Given the description of an element on the screen output the (x, y) to click on. 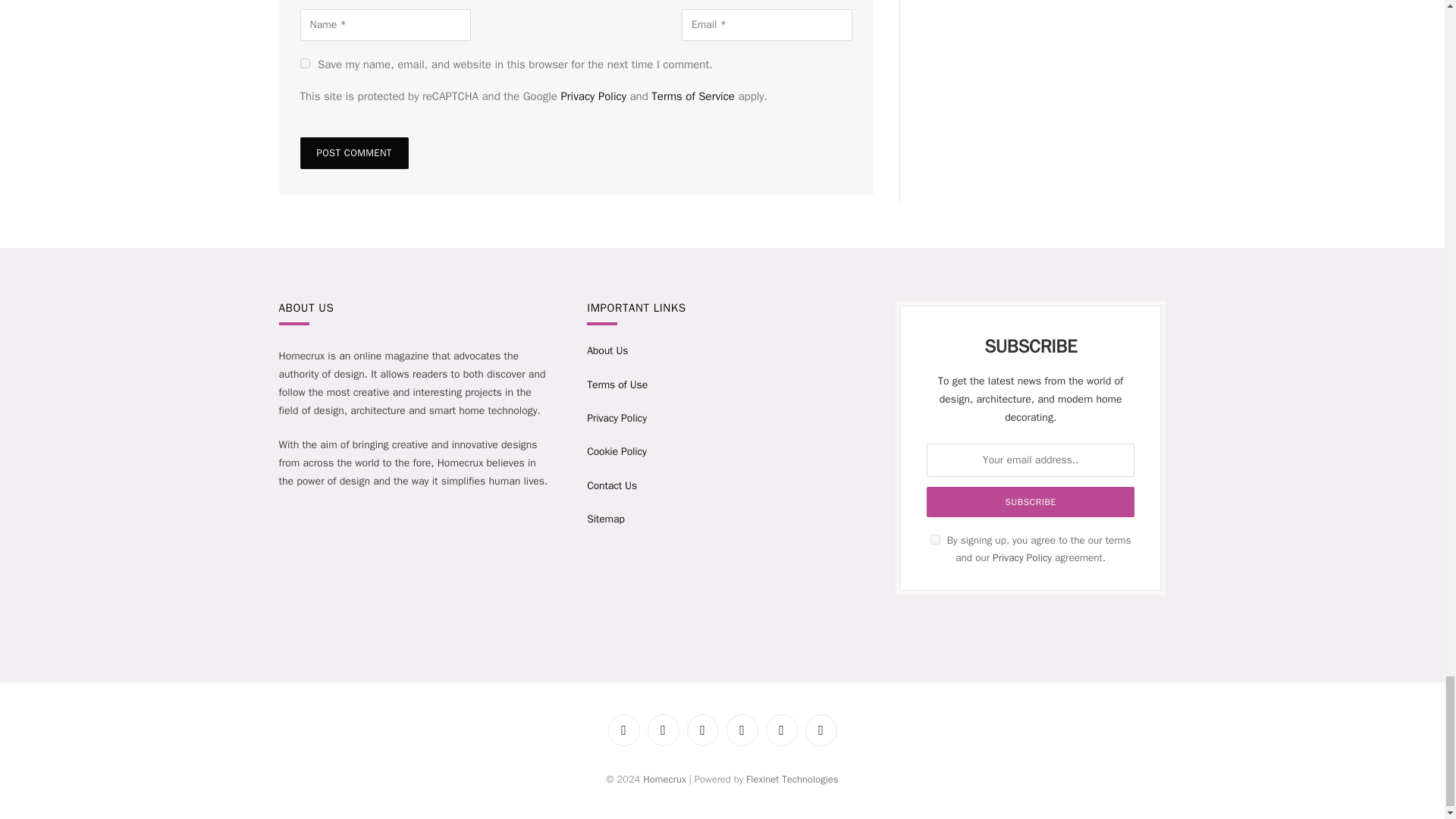
on (935, 539)
yes (304, 62)
SUBSCRIBE (1030, 501)
Post Comment (354, 152)
